Given the description of an element on the screen output the (x, y) to click on. 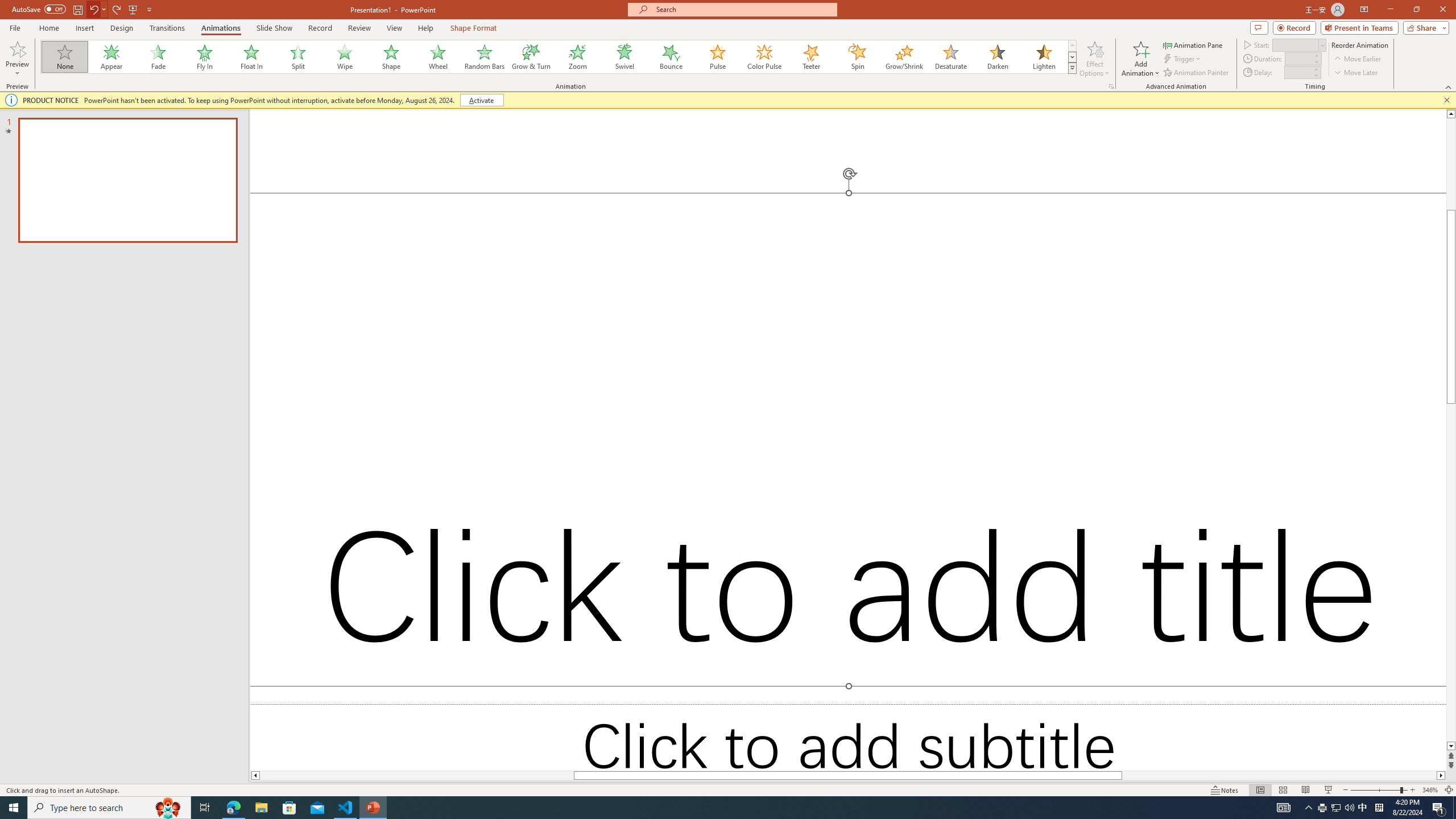
Pulse (717, 56)
Effect Options (1094, 58)
Grow & Turn (531, 56)
Animation Painter (1196, 72)
Lighten (1043, 56)
Fade (158, 56)
